Given the description of an element on the screen output the (x, y) to click on. 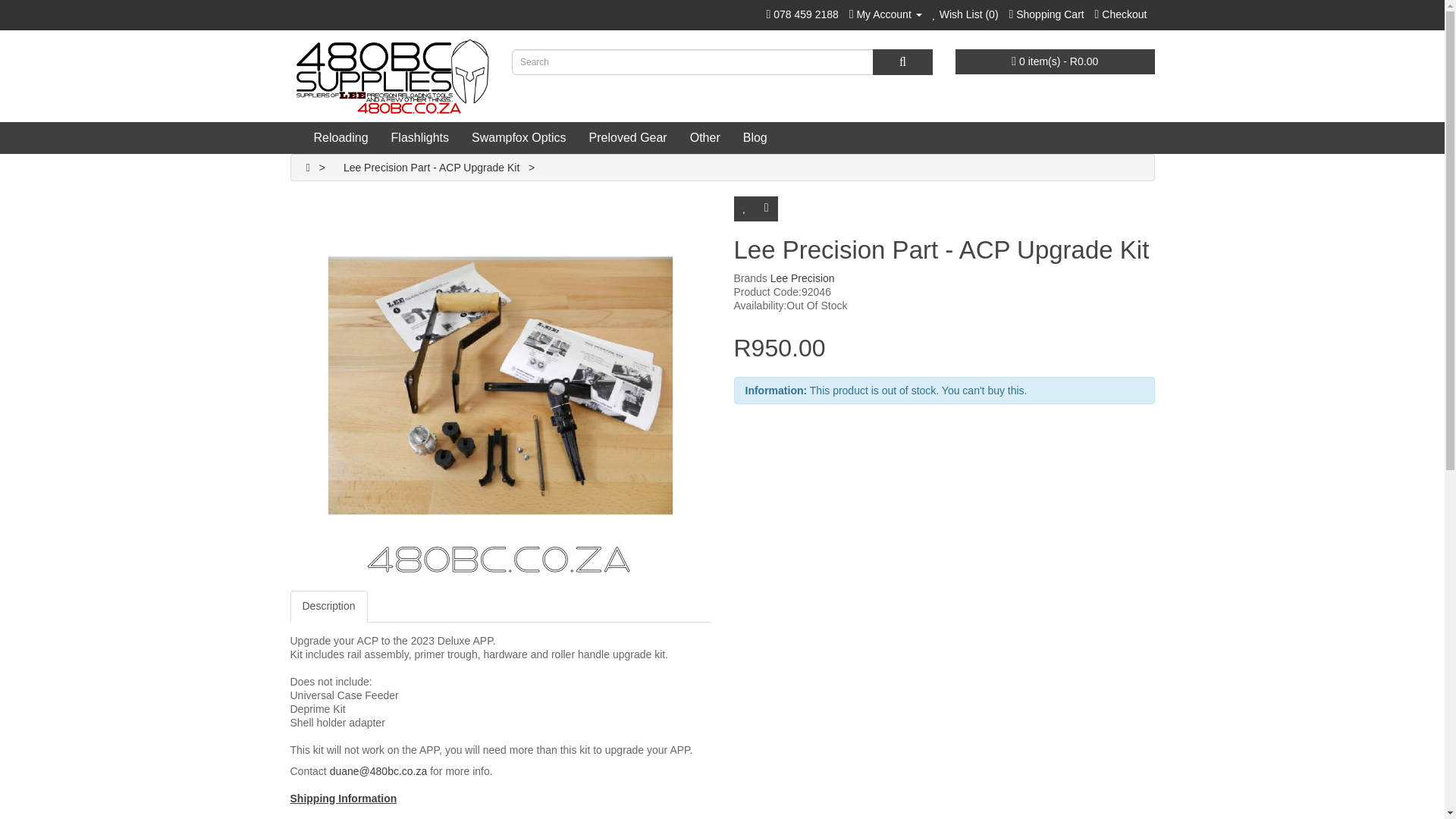
Flashlights (420, 137)
Shopping Cart (1046, 14)
Checkout (1120, 14)
Checkout (1120, 14)
Lee Precision Part - ACP Upgrade Kit (431, 167)
480BC Supplies (389, 75)
Swampfox Optics (518, 137)
Preloved Gear (628, 137)
Other (705, 137)
